Given the description of an element on the screen output the (x, y) to click on. 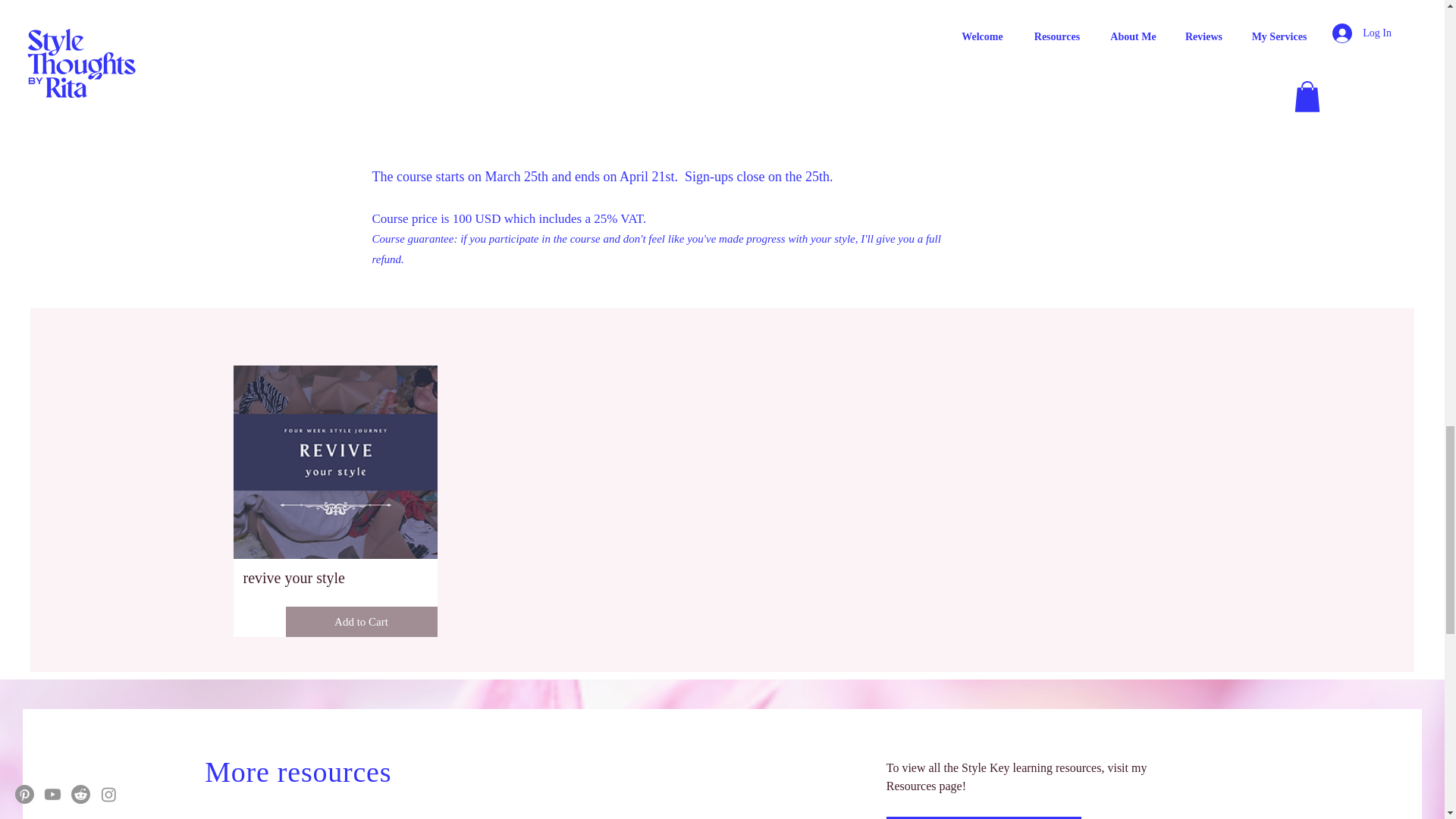
Add to Cart (360, 621)
Learning Resources (983, 817)
